Given the description of an element on the screen output the (x, y) to click on. 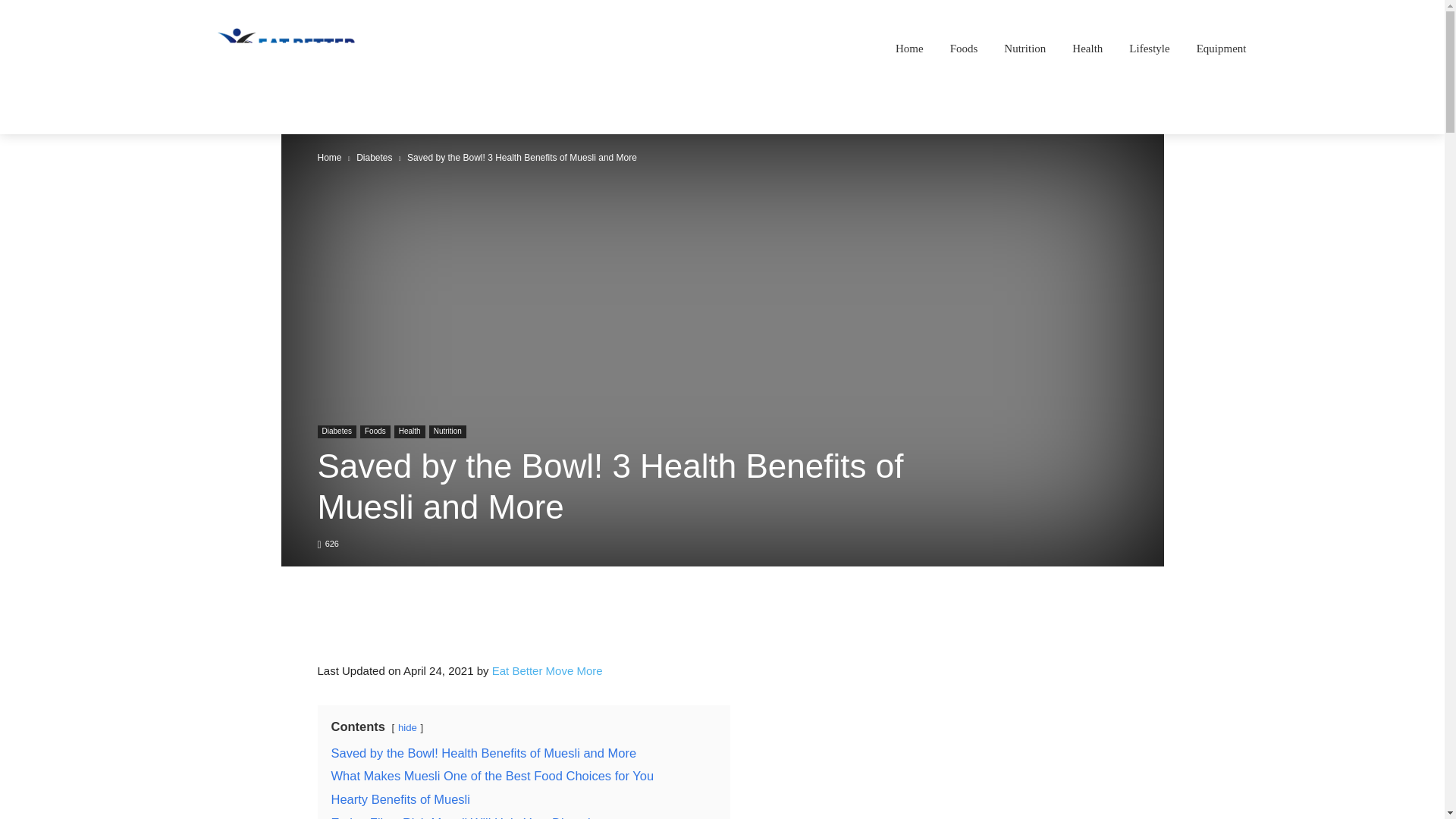
Home (909, 48)
Foods (963, 48)
Nutrition (1024, 48)
